Given the description of an element on the screen output the (x, y) to click on. 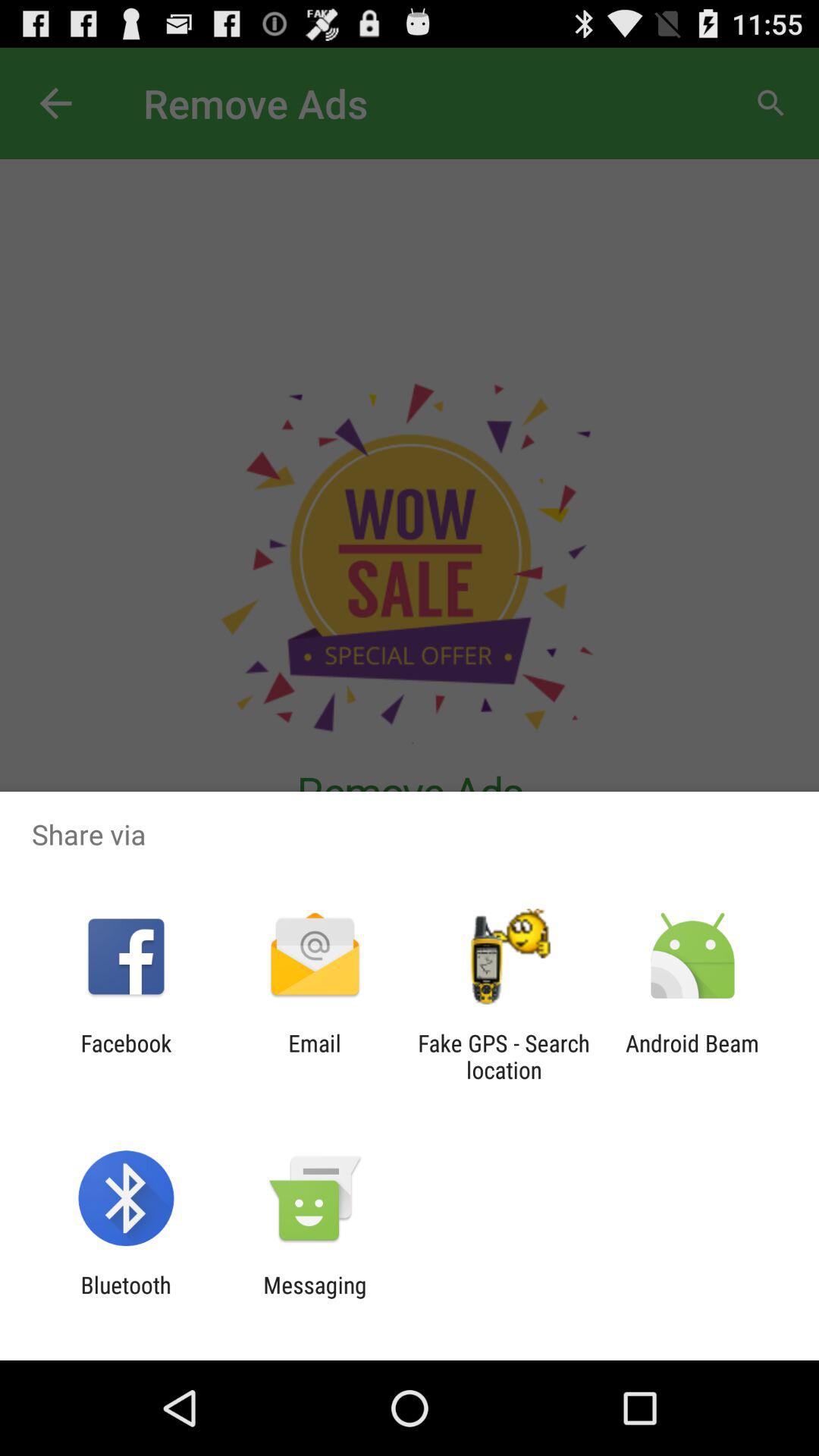
tap the app at the bottom right corner (692, 1056)
